Given the description of an element on the screen output the (x, y) to click on. 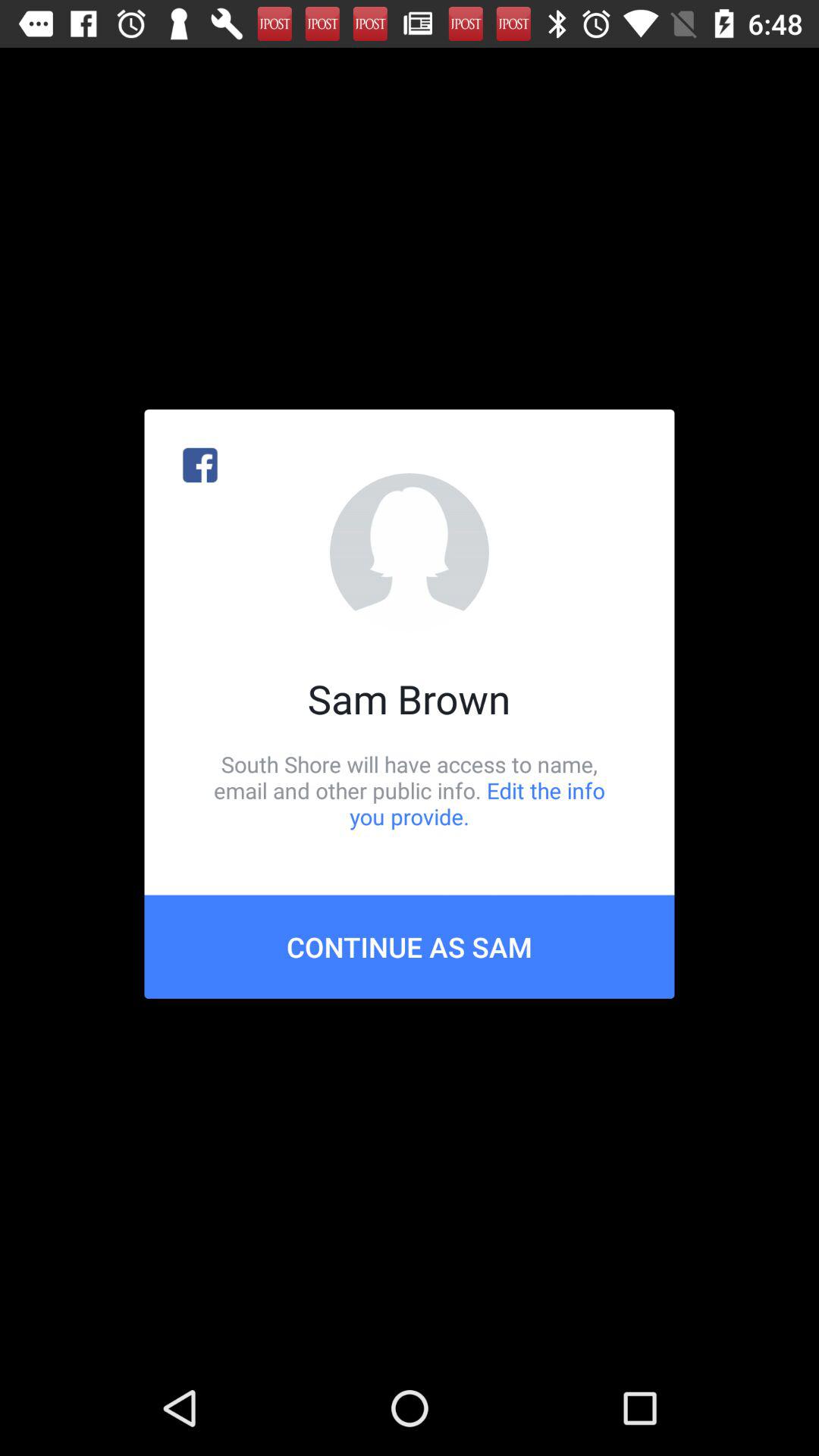
tap icon above the continue as sam (409, 790)
